Given the description of an element on the screen output the (x, y) to click on. 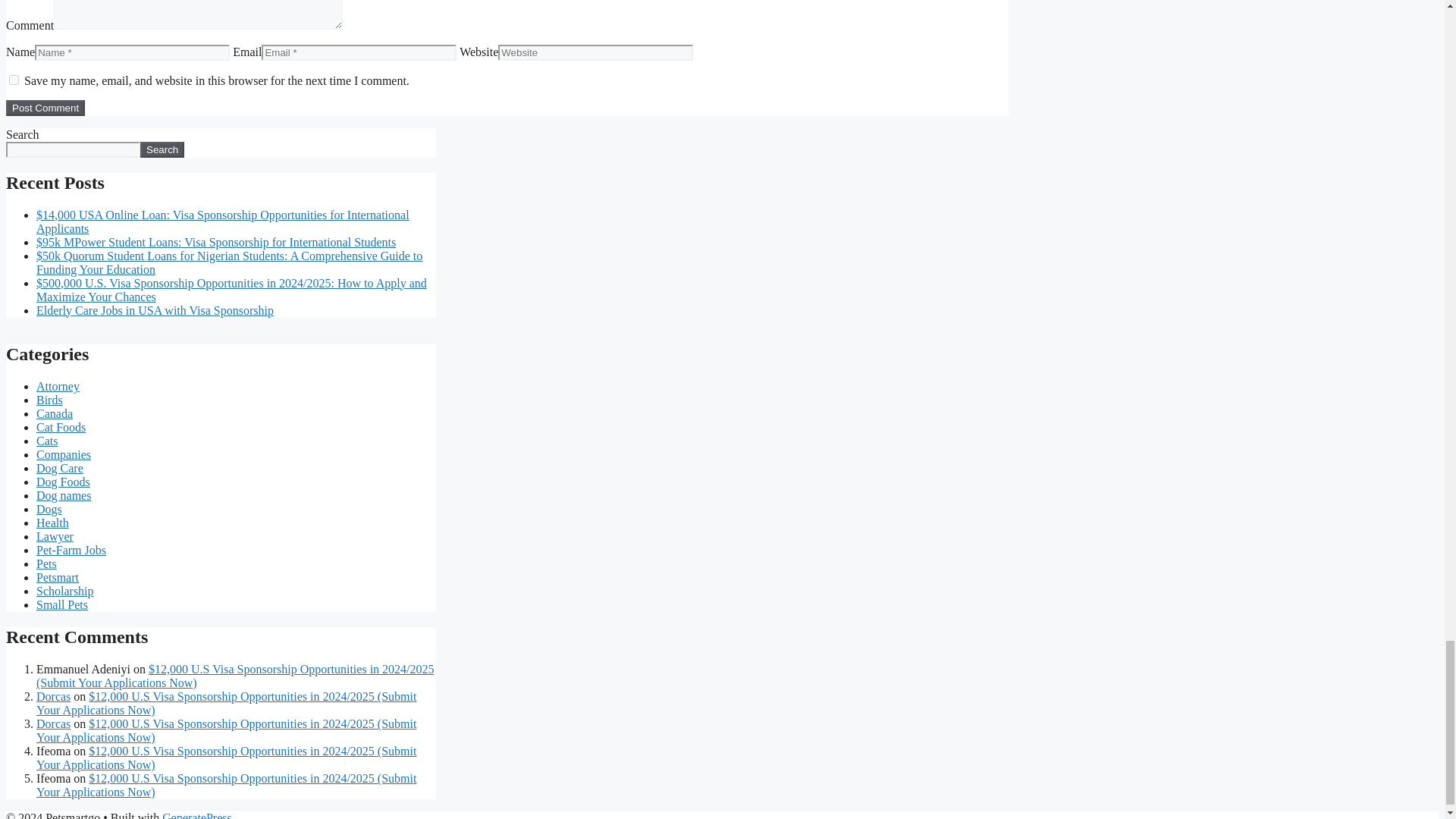
Pet-Farm Jobs (71, 549)
Post Comment (44, 107)
Dog Care (59, 468)
Health (52, 522)
Post Comment (44, 107)
Attorney (58, 386)
Search (161, 149)
Elderly Care Jobs in USA with Visa Sponsorship (154, 309)
Dog names (63, 495)
yes (13, 80)
